Given the description of an element on the screen output the (x, y) to click on. 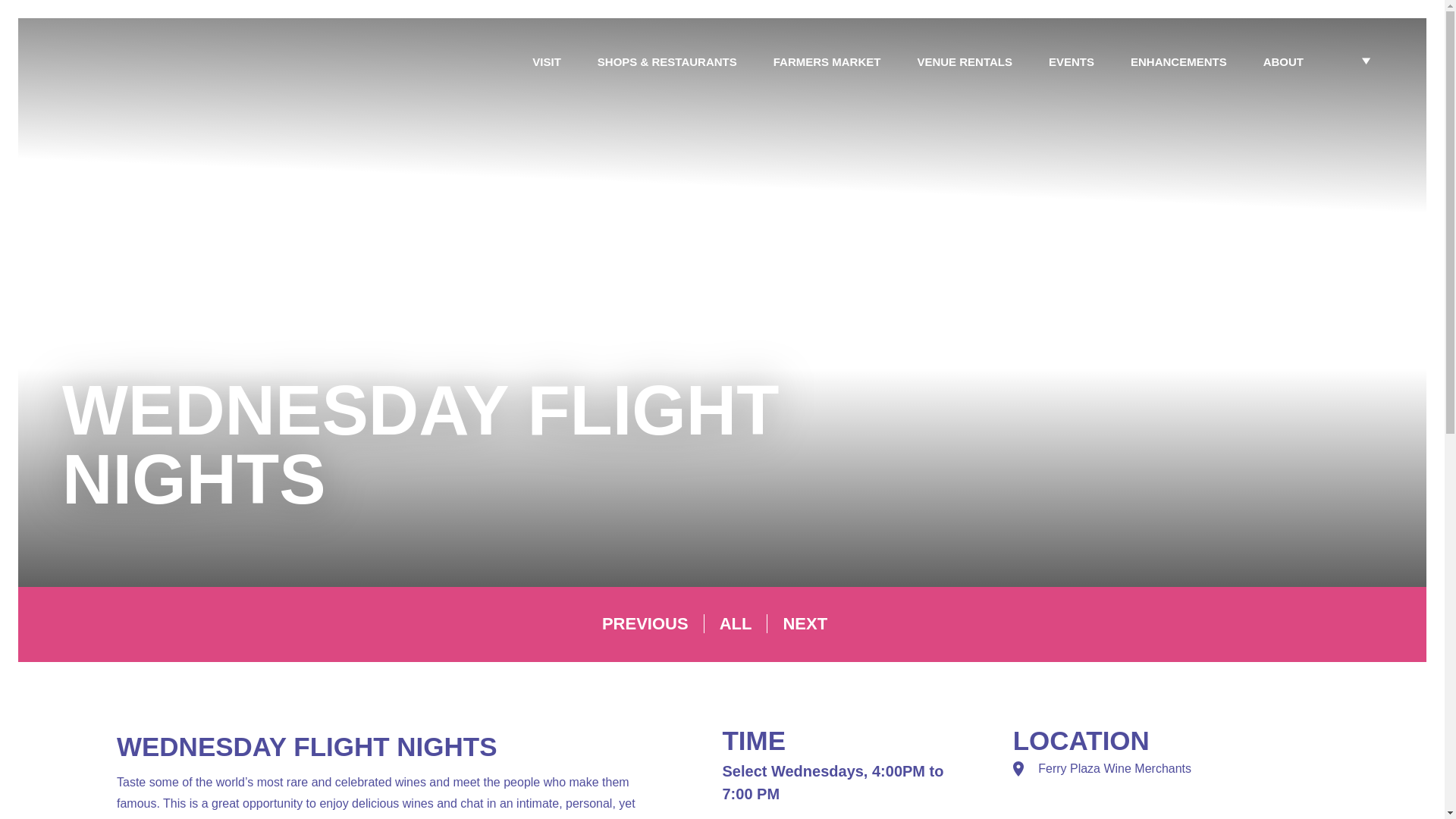
NEXT (813, 623)
PREVIOUS (653, 623)
ABOUT (1283, 62)
EVENTS (1071, 62)
ENHANCEMENTS (1178, 62)
VISIT (546, 62)
FARMERS MARKET (827, 62)
VENUE RENTALS (964, 62)
ALL (743, 623)
